Given the description of an element on the screen output the (x, y) to click on. 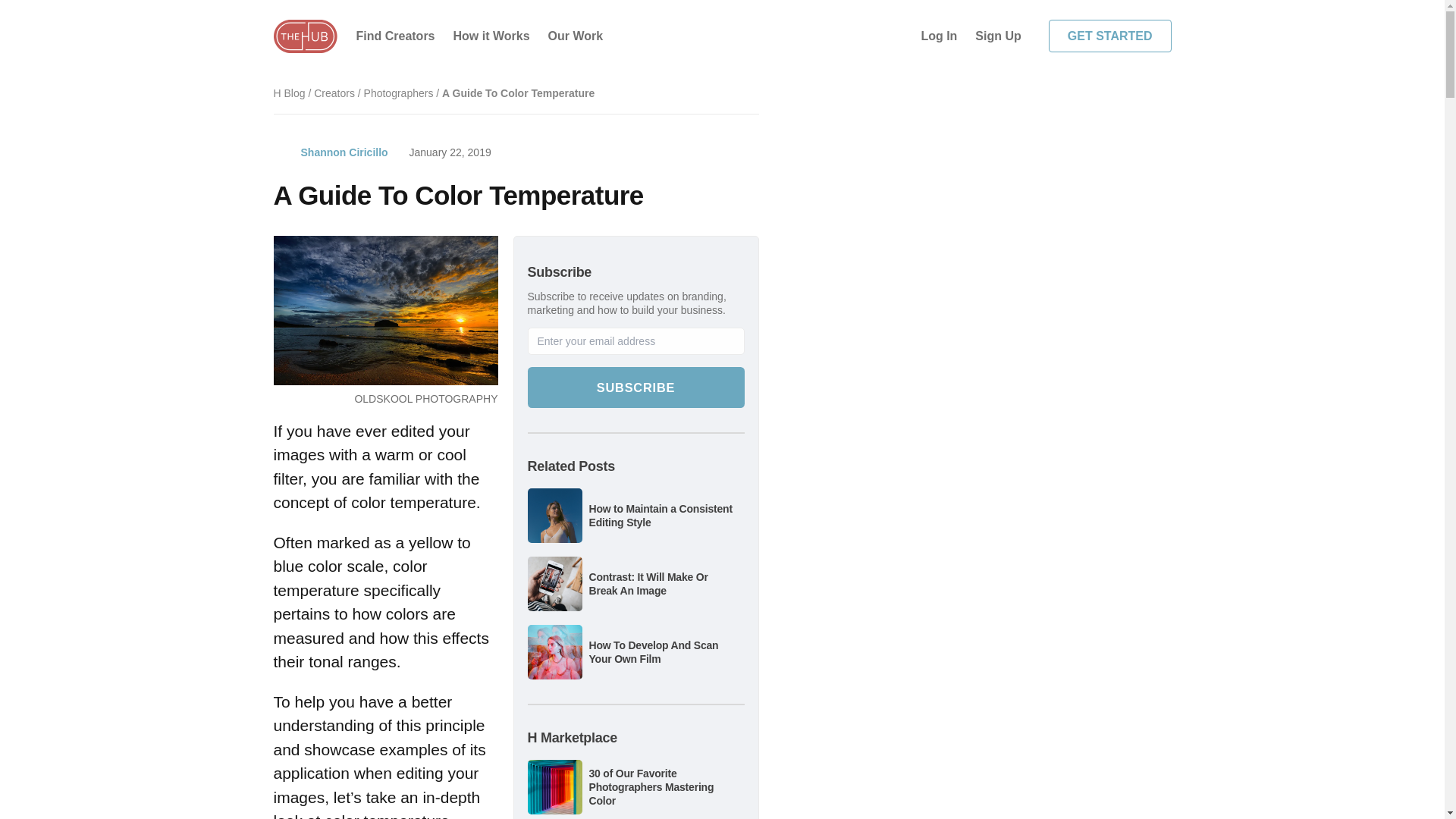
30 of Our Favorite Photographers Mastering Color (650, 786)
How to Maintain a Consistent Editing Style (660, 515)
How it Works (491, 36)
SUBSCRIBE (635, 386)
How To Develop And Scan Your Own Film (652, 652)
OLDSKOOL PHOTOGRAPHY (425, 398)
Get started (1110, 35)
GET STARTED (1110, 35)
Sign Up (997, 36)
Log In (938, 36)
